Given the description of an element on the screen output the (x, y) to click on. 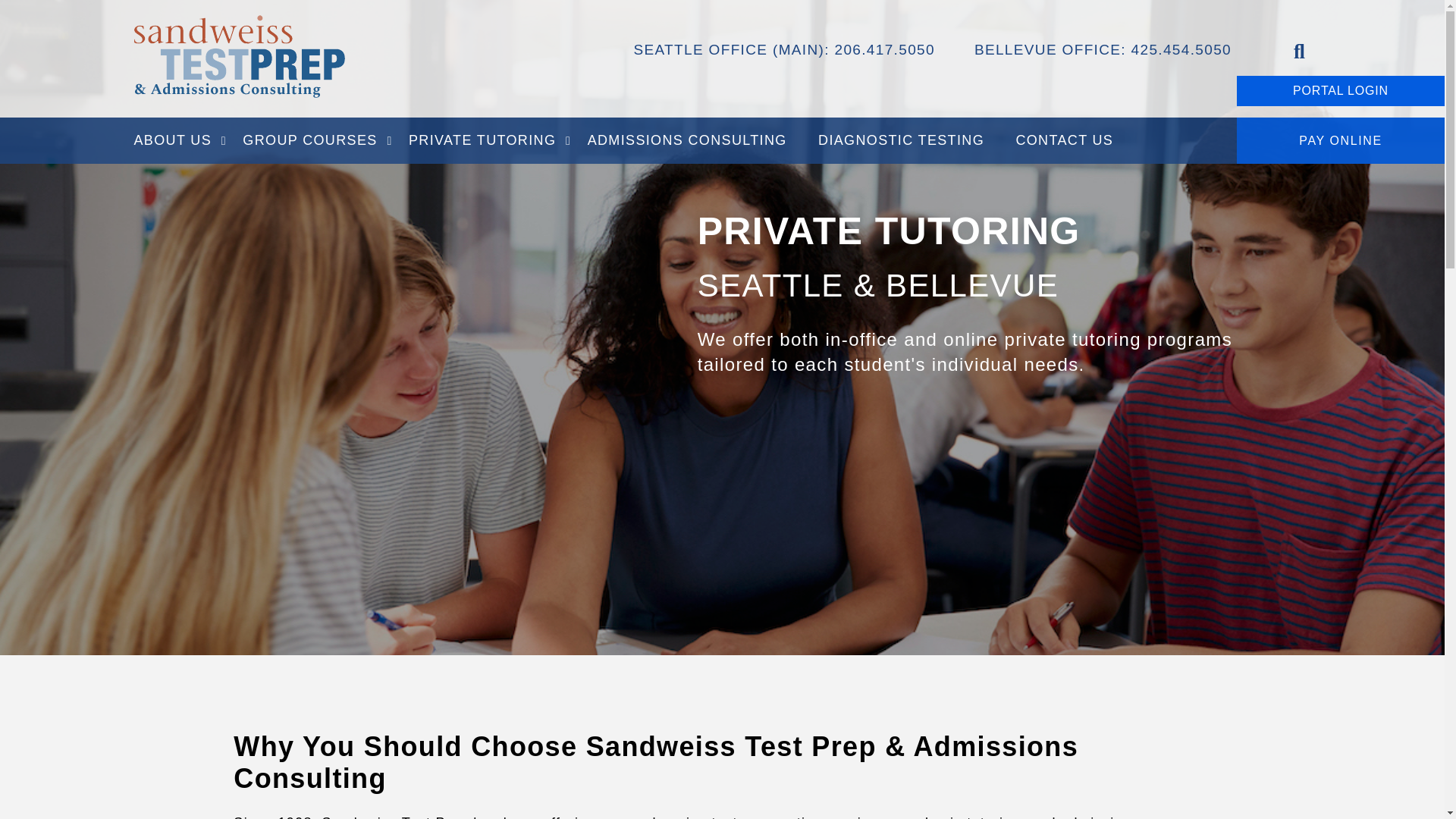
ABOUT US (180, 140)
GROUP COURSES (309, 140)
CONTACT US (1064, 140)
206.417.5050 (884, 49)
ADMISSIONS CONSULTING (687, 140)
DIAGNOSTIC TESTING (900, 140)
425.454.5050 (1181, 49)
PRIVATE TUTORING (481, 140)
